Given the description of an element on the screen output the (x, y) to click on. 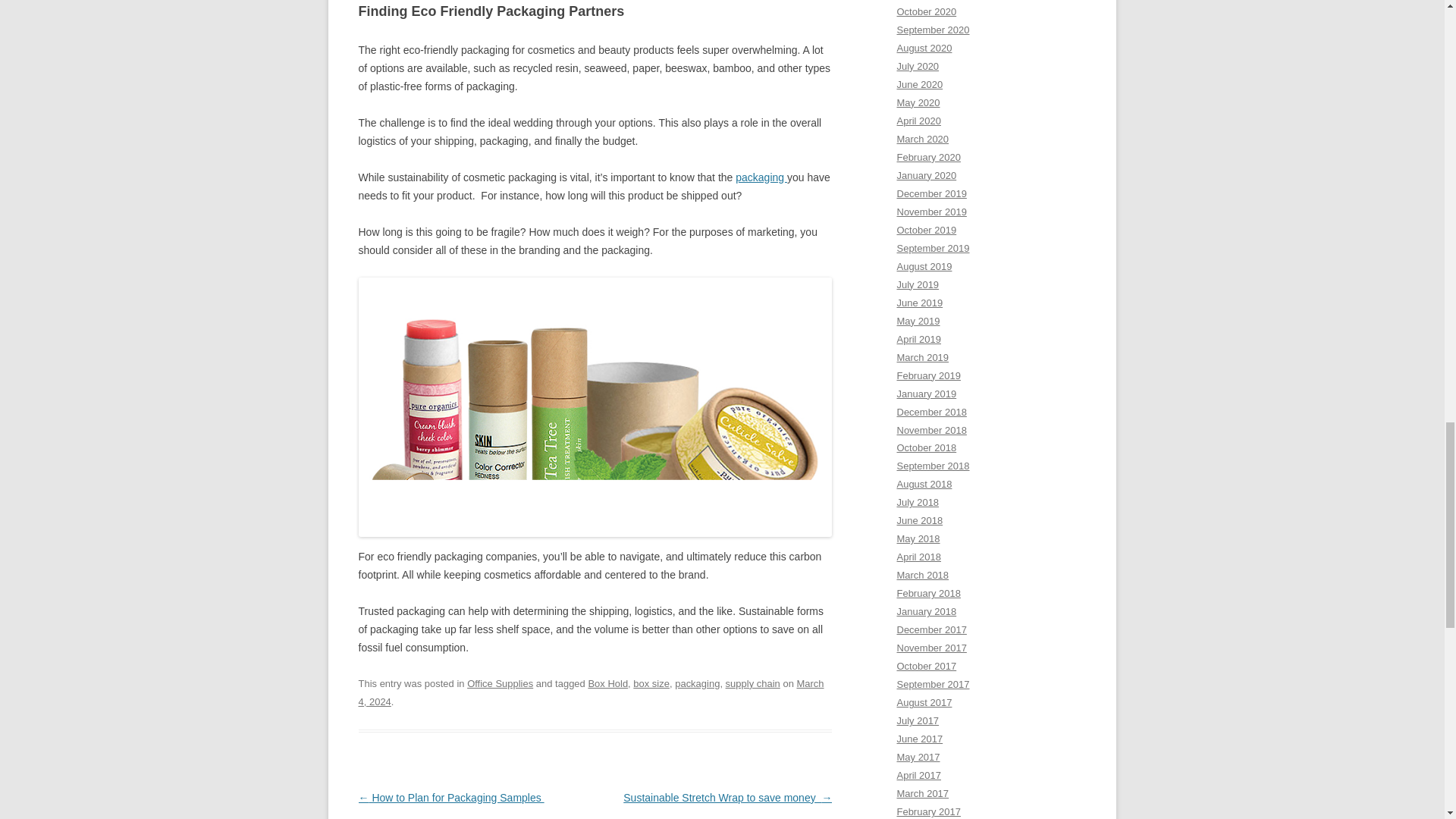
box size (651, 683)
Office Supplies (499, 683)
Box Hold (607, 683)
supply chain (752, 683)
packaging (761, 177)
12:32 pm (591, 692)
March 4, 2024 (591, 692)
packaging (697, 683)
